Given the description of an element on the screen output the (x, y) to click on. 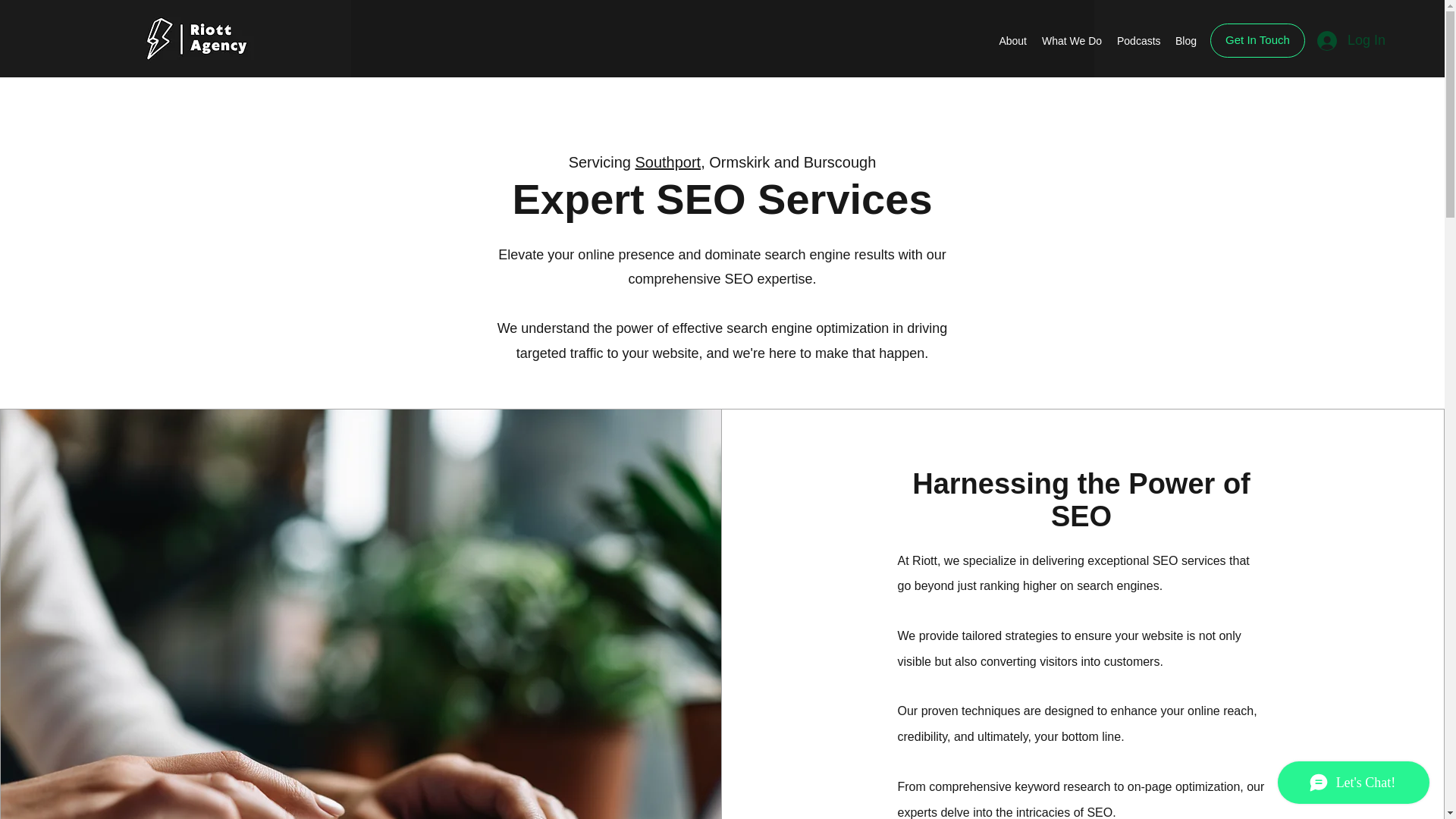
Blog (1185, 40)
Get In Touch (1256, 40)
Southport (667, 161)
Log In (1351, 40)
About (1012, 40)
